Given the description of an element on the screen output the (x, y) to click on. 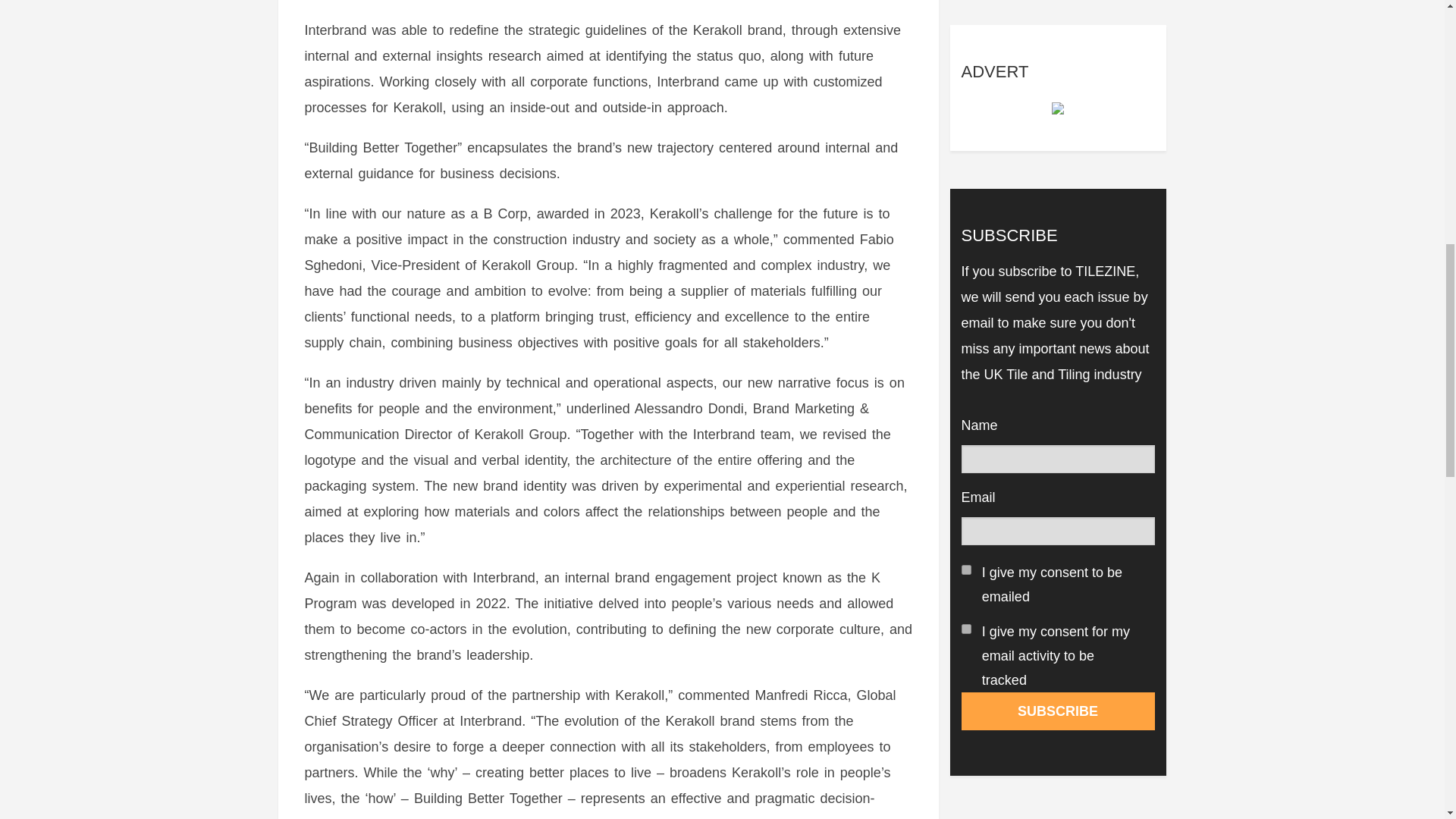
SUBSCRIBE (1057, 711)
on (965, 569)
on (965, 628)
